Given the description of an element on the screen output the (x, y) to click on. 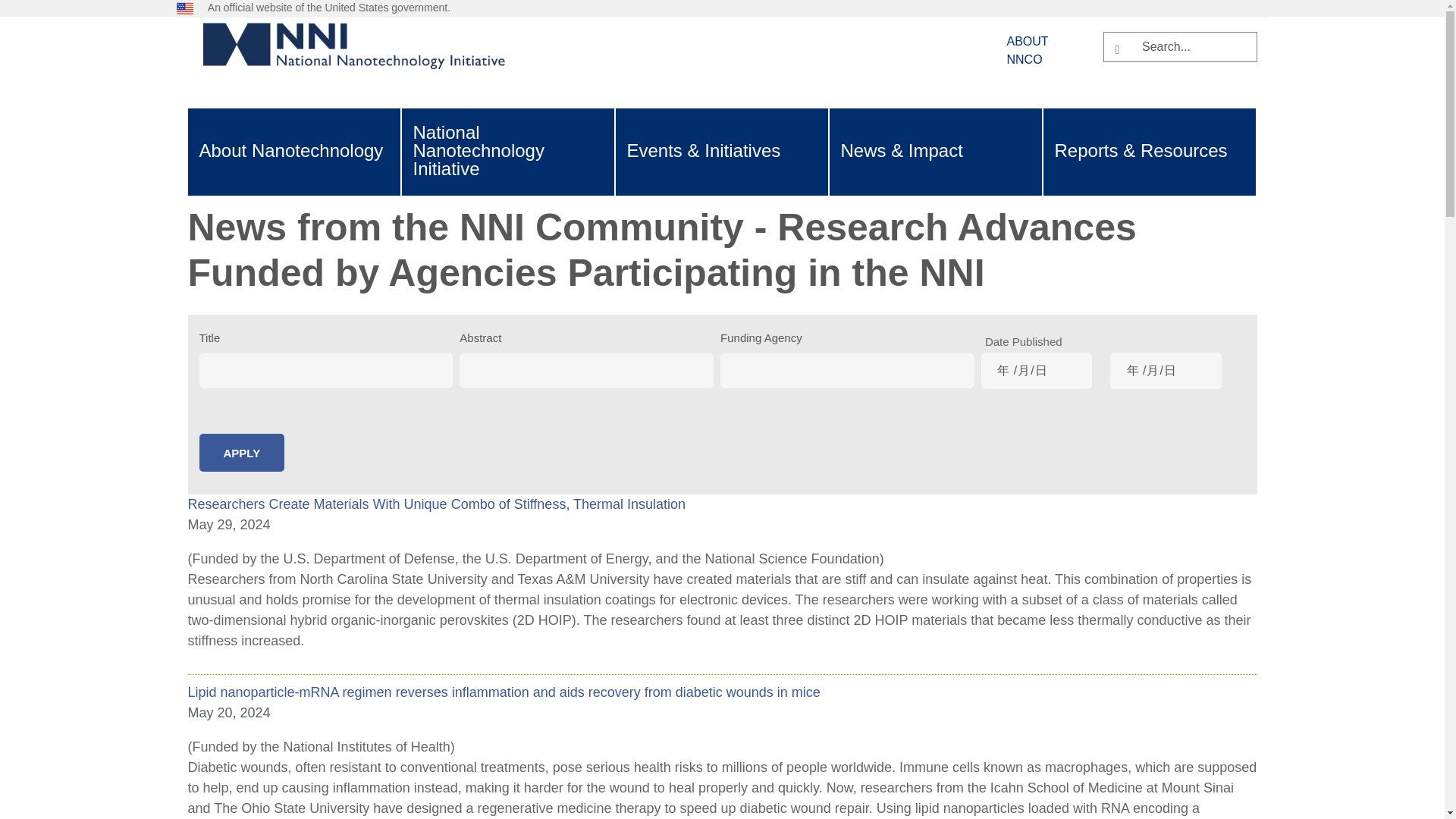
Search (1121, 49)
Apply (240, 452)
Apply (240, 452)
National Nanotechnology Initiative (506, 151)
About Nanotechnology (290, 151)
Search (1121, 49)
Enter the terms you wish to search for. (1193, 46)
Home (362, 56)
Search (1121, 49)
ABOUT NNCO (1027, 50)
